Given the description of an element on the screen output the (x, y) to click on. 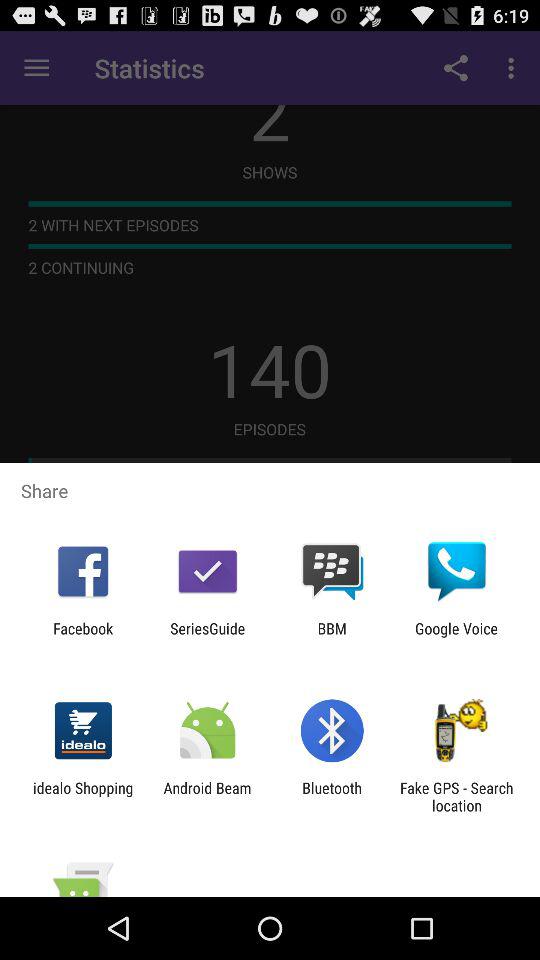
select app to the right of the facebook icon (207, 637)
